Given the description of an element on the screen output the (x, y) to click on. 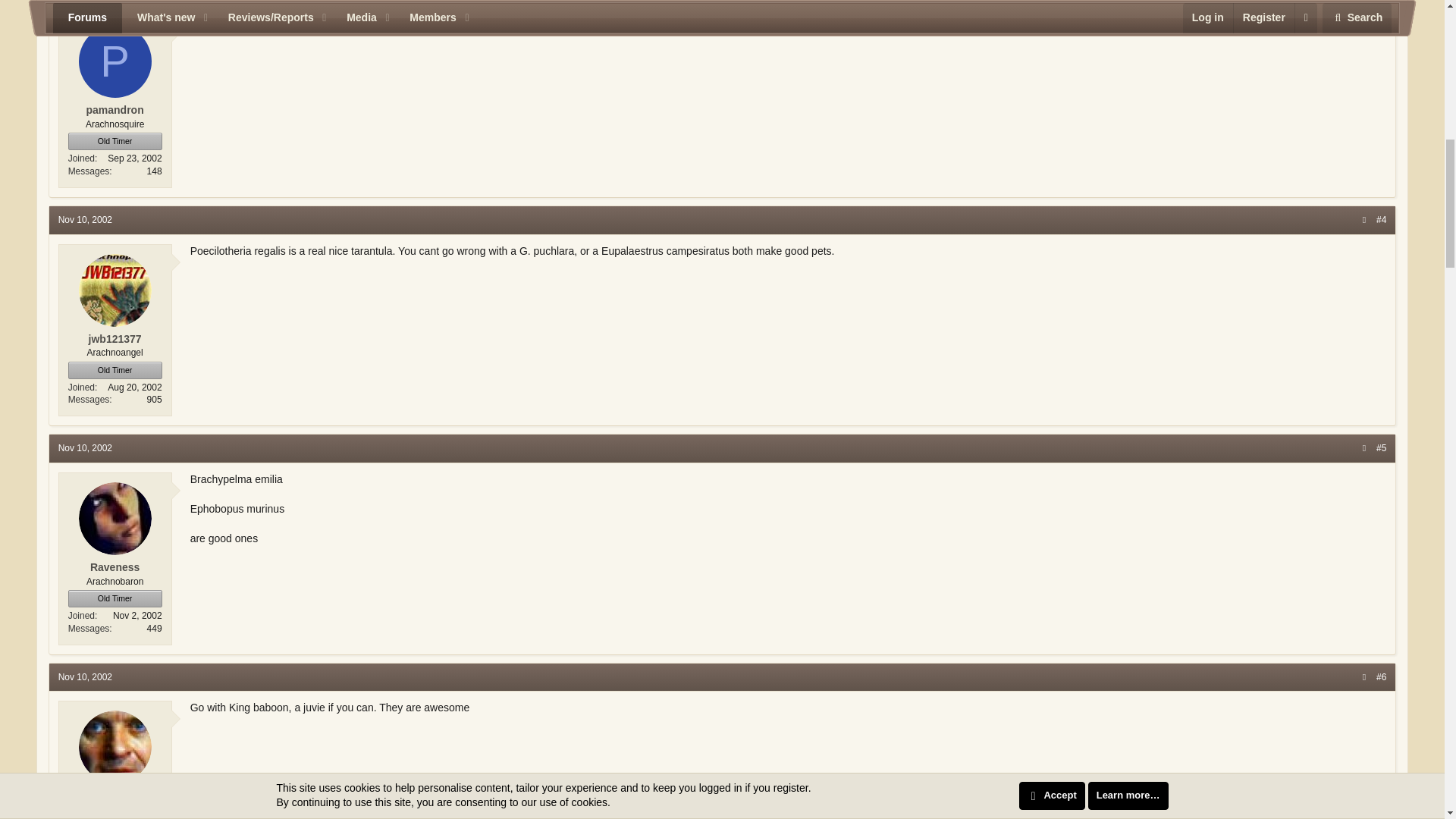
Nov 10, 2002 at 8:34 AM (85, 219)
Nov 10, 2002 at 9:26 AM (85, 676)
Nov 10, 2002 at 9:21 AM (85, 448)
